Given the description of an element on the screen output the (x, y) to click on. 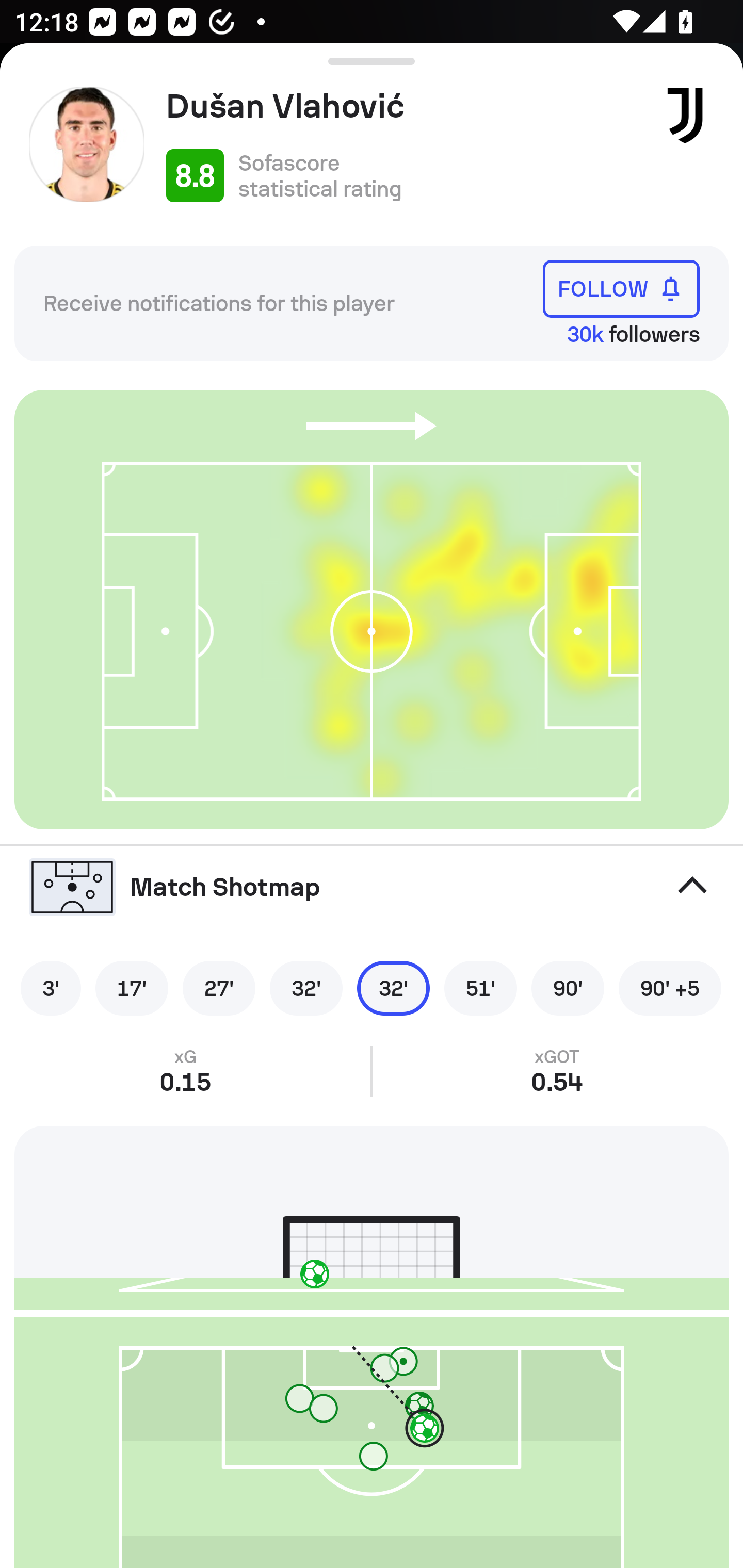
Dušan Vlahović (403, 105)
FOLLOW (621, 289)
Match Shotmap (371, 886)
3' (50, 988)
17' (131, 988)
27' (218, 988)
32' (305, 988)
32' (392, 988)
51' (480, 988)
90' (567, 988)
90' +5 (669, 988)
